Given the description of an element on the screen output the (x, y) to click on. 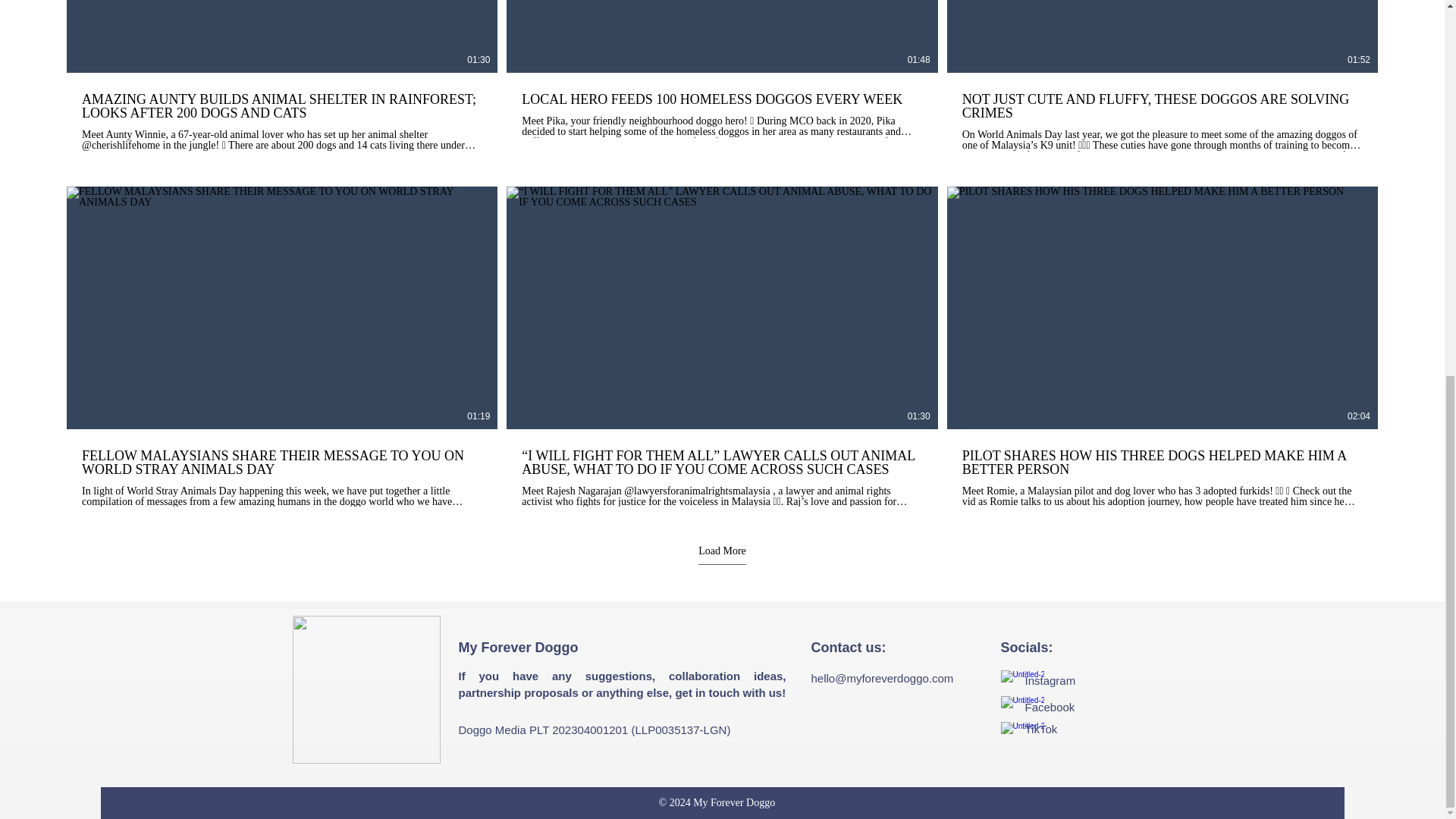
LOCAL HERO FEEDS 100 HOMELESS DOGGOS EVERY WEEK (721, 98)
Instagram (1050, 680)
TikTok (1041, 728)
NOT JUST CUTE AND FLUFFY, THESE DOGGOS ARE SOLVING CRIMES (1162, 105)
Load More (721, 554)
wix mfd blue dog.png (366, 689)
Facebook (1050, 707)
